Given the description of an element on the screen output the (x, y) to click on. 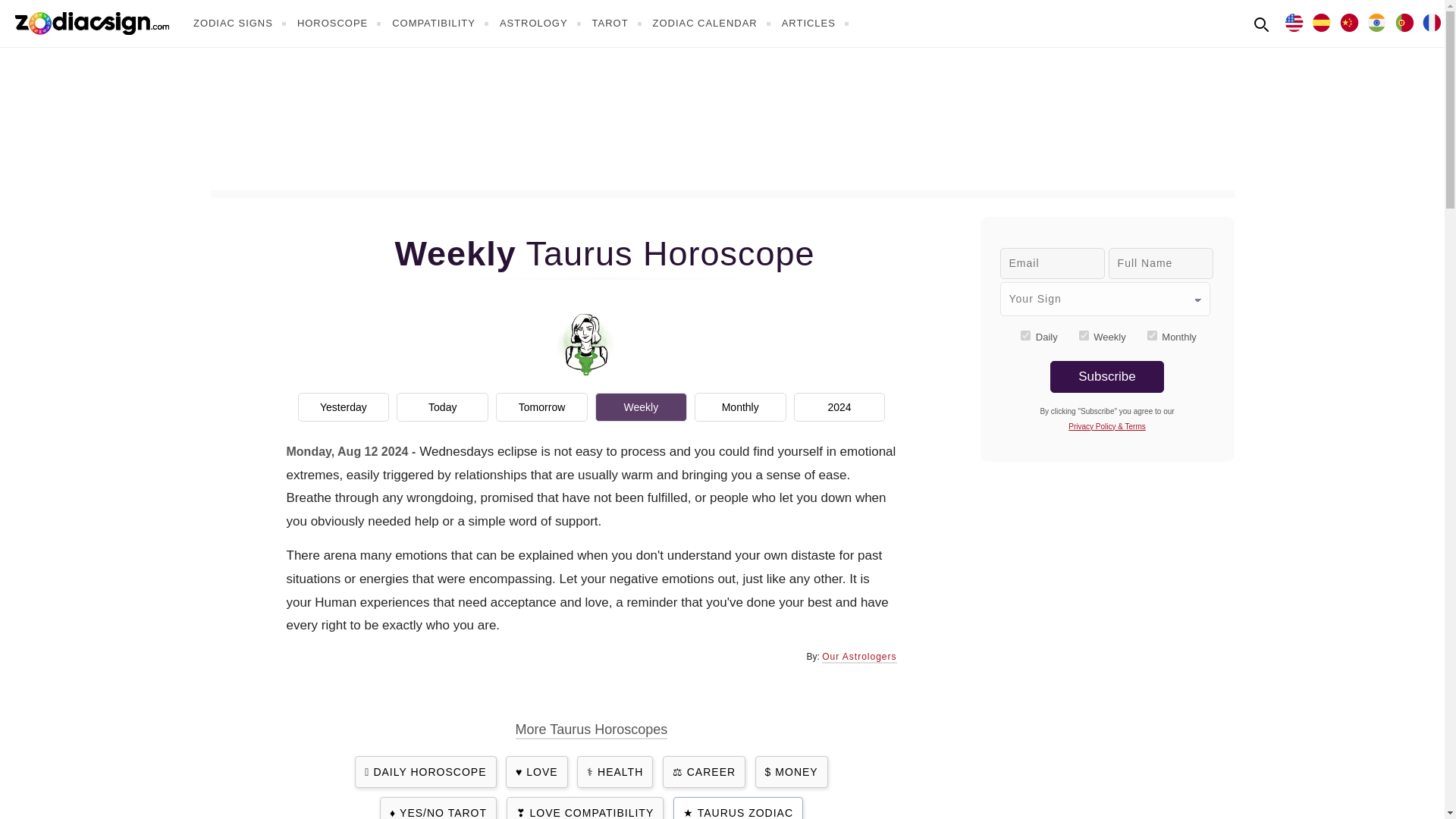
HOROSCOPE (341, 23)
weekly (1083, 335)
ZODIAC SIGNS (241, 23)
monthly (1152, 335)
daily (1025, 335)
In English (1294, 21)
